Given the description of an element on the screen output the (x, y) to click on. 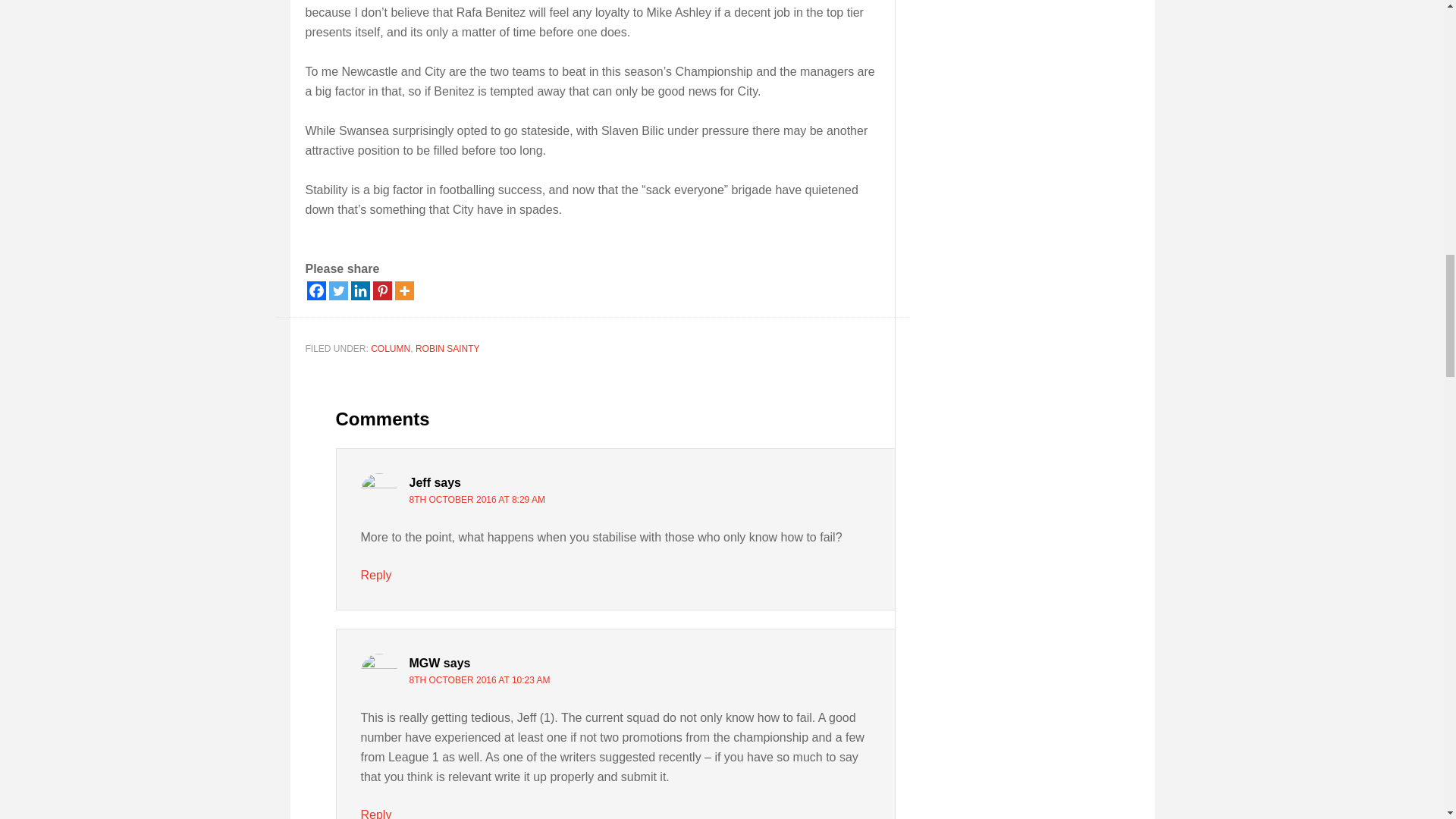
8TH OCTOBER 2016 AT 10:23 AM (479, 679)
More (403, 290)
Pinterest (381, 290)
8TH OCTOBER 2016 AT 8:29 AM (476, 499)
ROBIN SAINTY (447, 348)
Facebook (314, 290)
Twitter (338, 290)
Linkedin (359, 290)
Reply (376, 574)
COLUMN (390, 348)
Reply (376, 813)
